Given the description of an element on the screen output the (x, y) to click on. 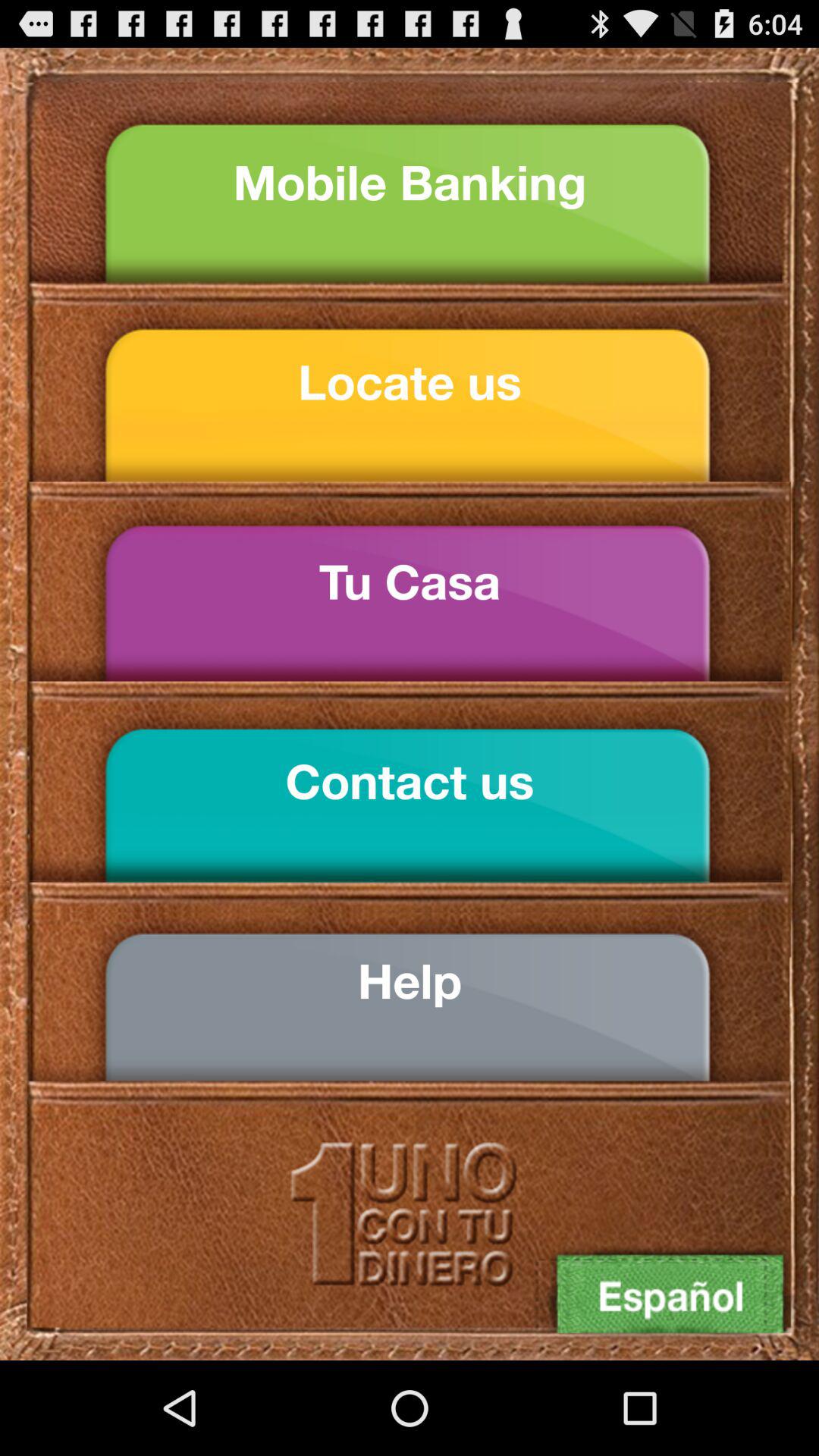
jump to mobile banking icon (409, 182)
